Given the description of an element on the screen output the (x, y) to click on. 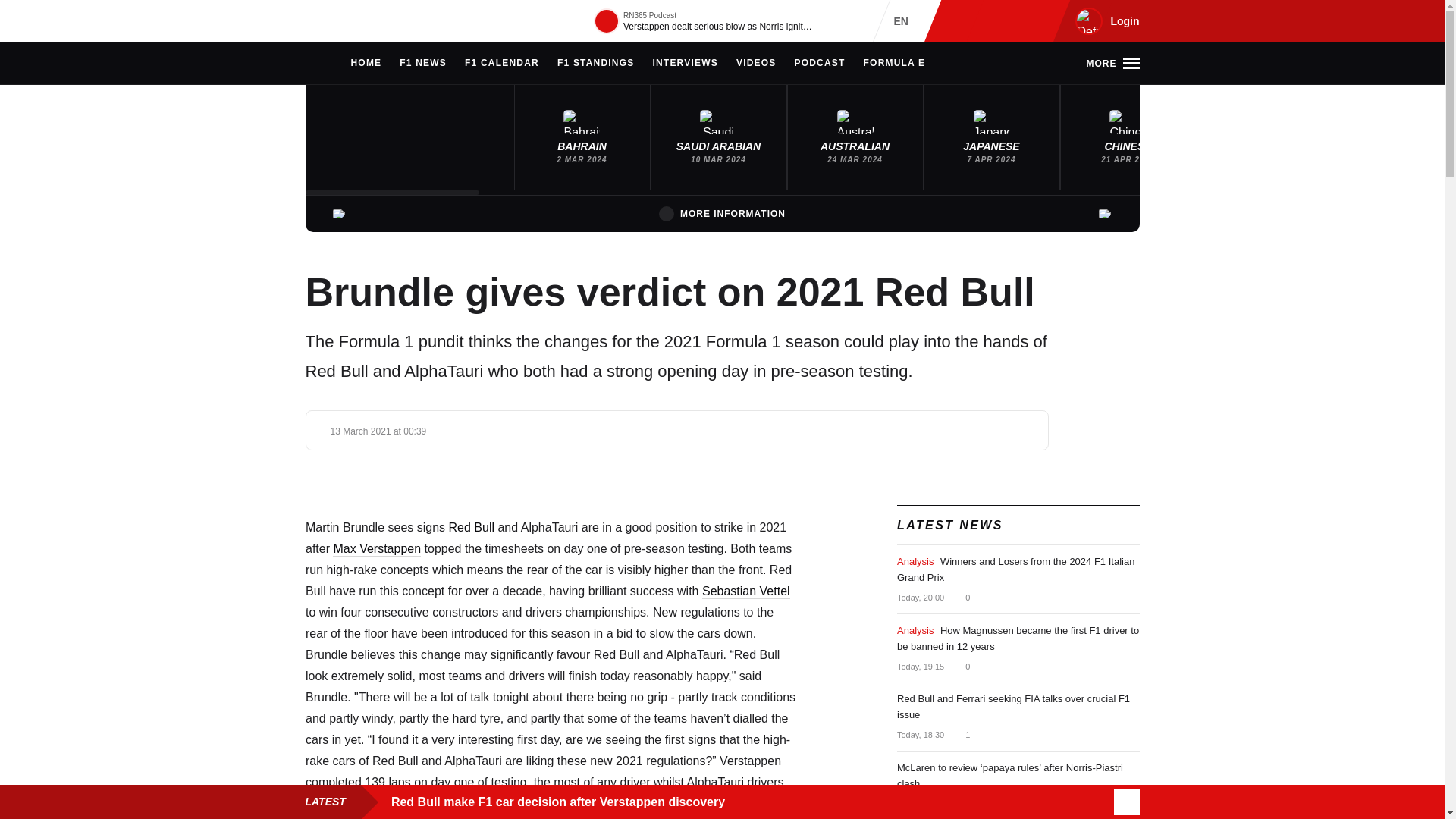
Login (1104, 21)
VIDEOS (756, 63)
PODCAST (818, 63)
RacingNews365 (350, 21)
RacingNews365 on Instagram (962, 21)
F1 STANDINGS (595, 63)
F1 NEWS (422, 63)
Saturday 13 March 2021 at 00:39 (378, 430)
F1 CALENDAR (501, 63)
RacingNews365 on YouTube (1034, 21)
